Given the description of an element on the screen output the (x, y) to click on. 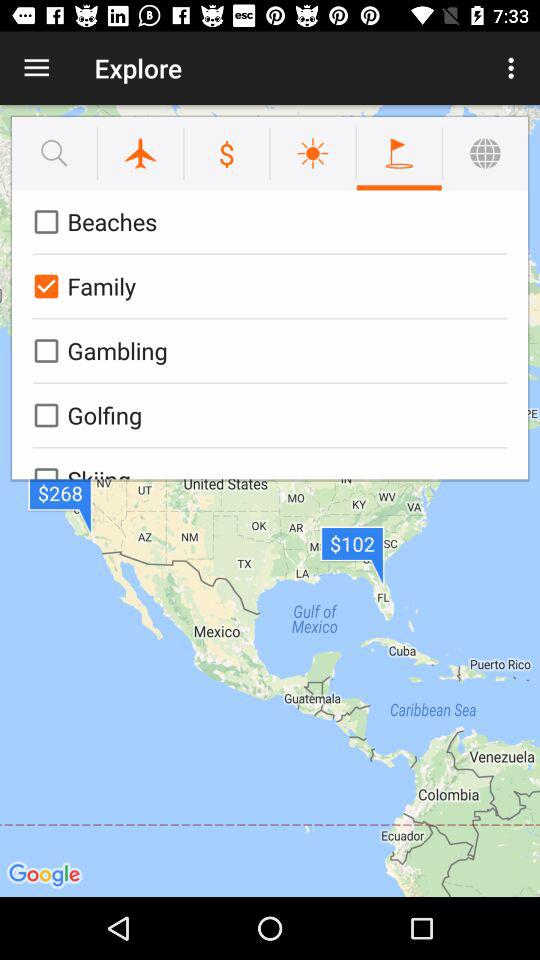
flip to golfing icon (266, 415)
